Given the description of an element on the screen output the (x, y) to click on. 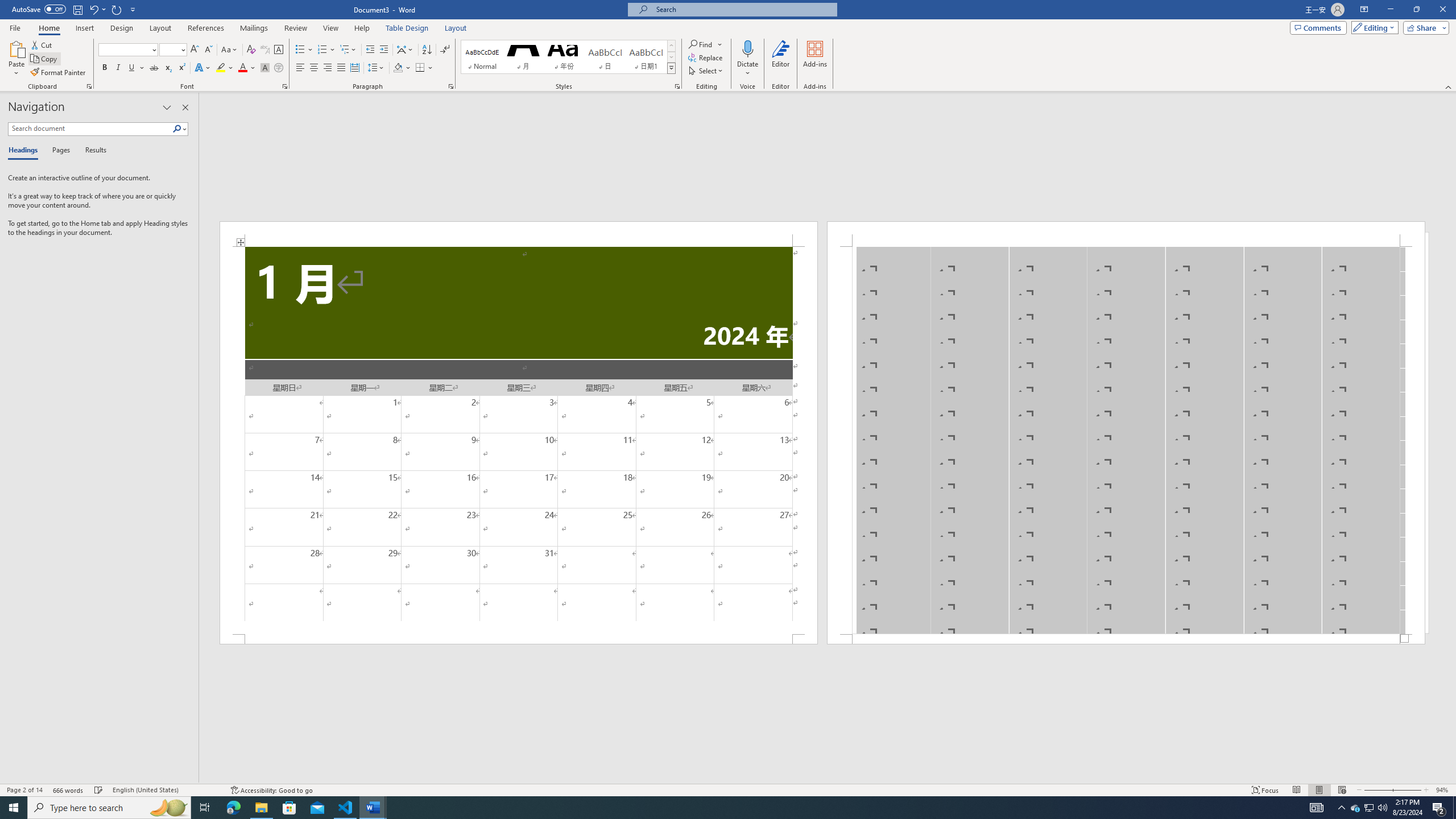
Undo Shrink Font (92, 9)
